Given the description of an element on the screen output the (x, y) to click on. 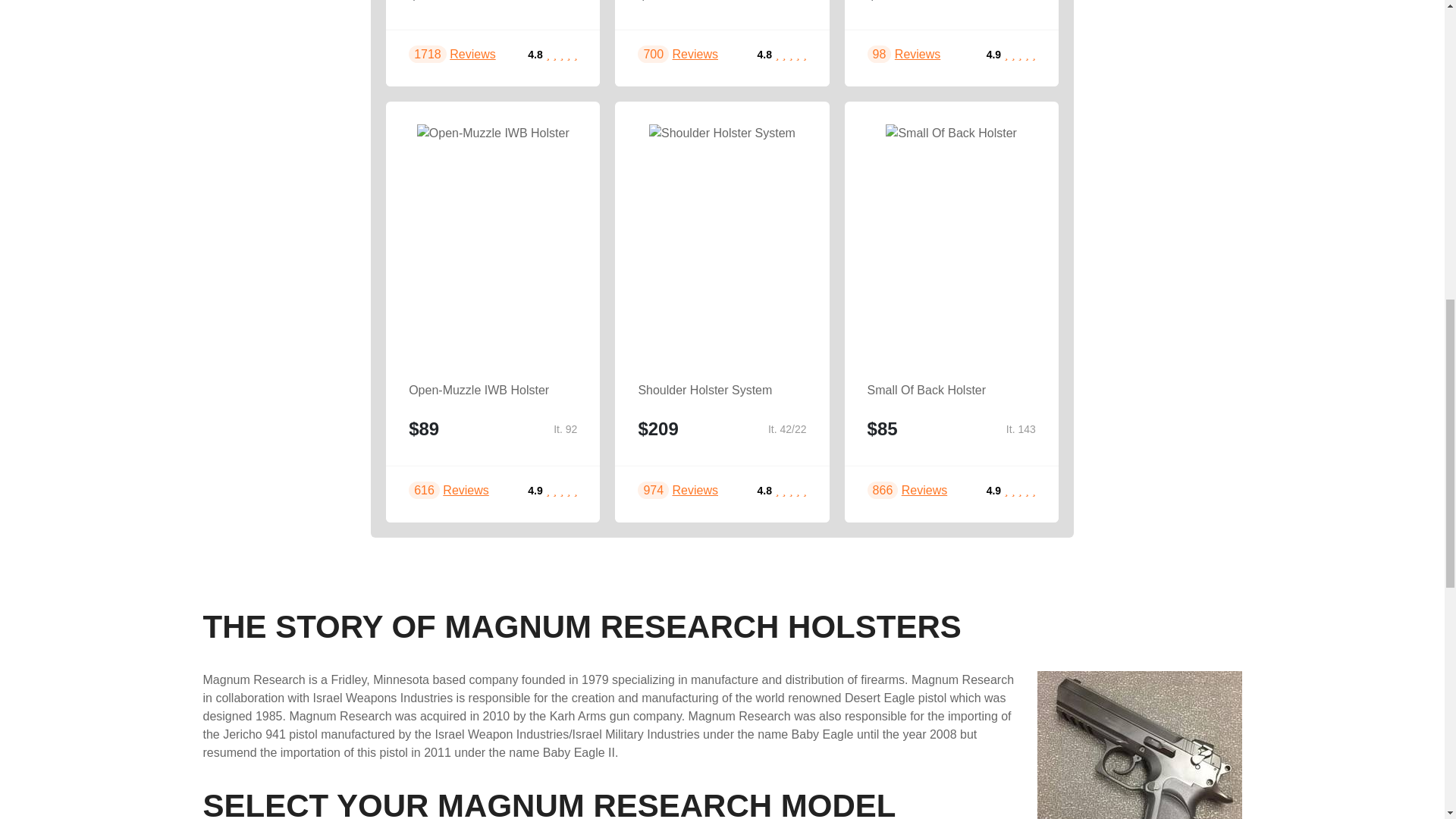
Reviews (694, 53)
Reviews (472, 53)
Reviews (694, 490)
Reviews (917, 53)
Reviews (464, 490)
